Given the description of an element on the screen output the (x, y) to click on. 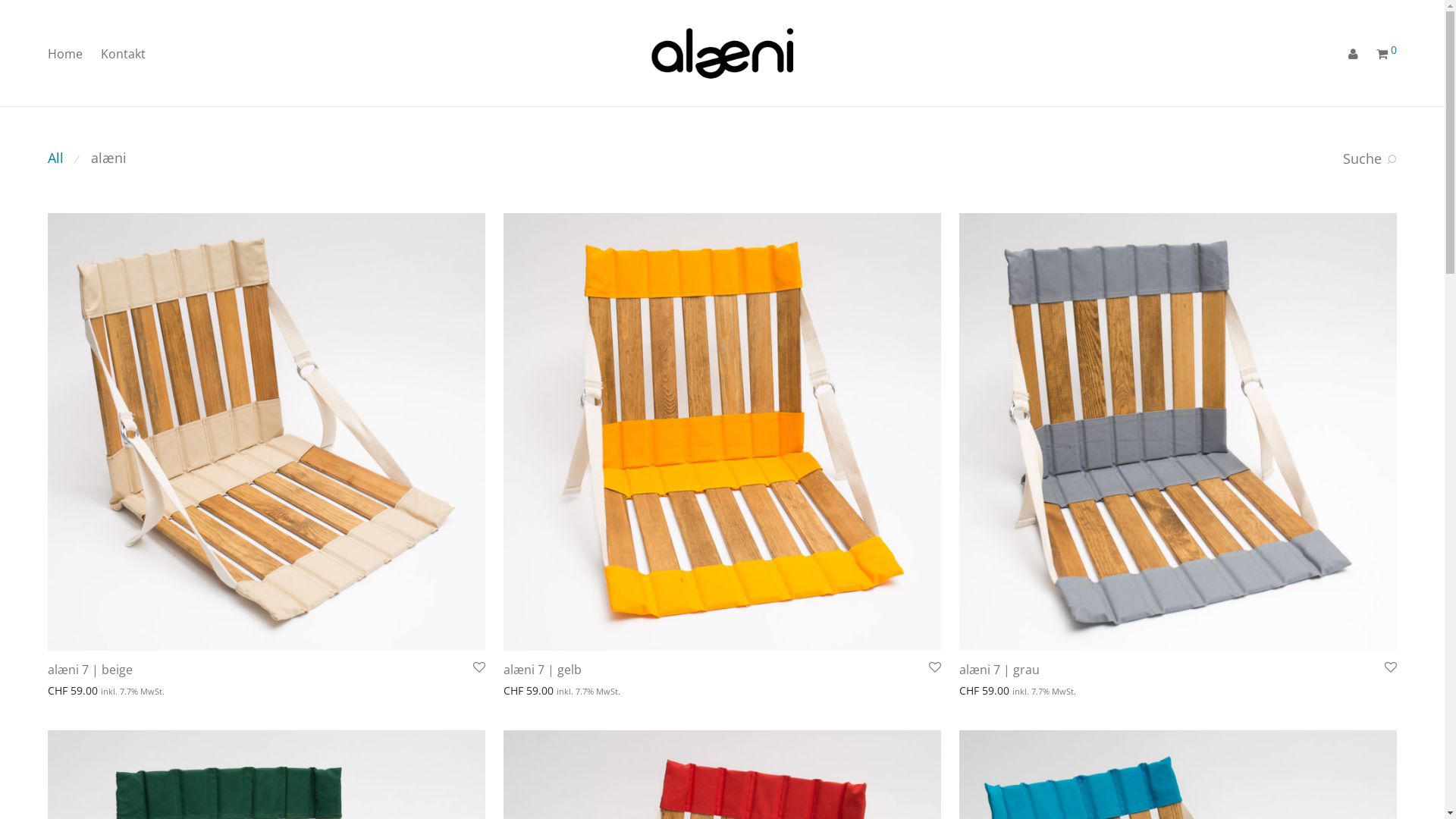
Suche Element type: text (1369, 158)
All Element type: text (55, 157)
Add to Wishlist Element type: hover (1389, 667)
Home Element type: text (64, 53)
Add to Wishlist Element type: hover (933, 667)
0 Element type: text (1386, 53)
Kontakt Element type: text (122, 53)
Add to Wishlist Element type: hover (477, 667)
